Given the description of an element on the screen output the (x, y) to click on. 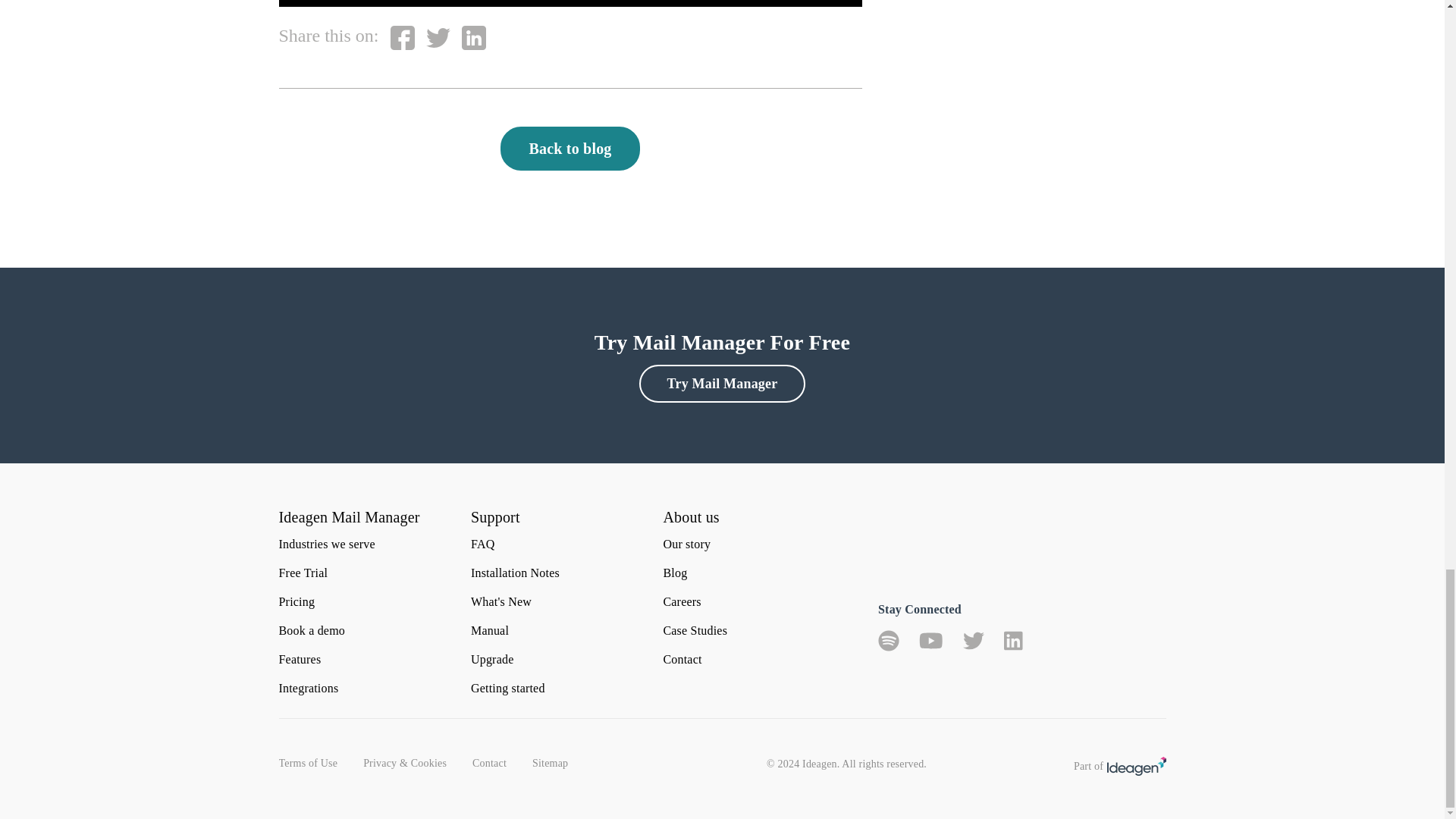
Try Mail Manager (722, 383)
Tweet (437, 37)
ideagenlogo (1136, 765)
